Given the description of an element on the screen output the (x, y) to click on. 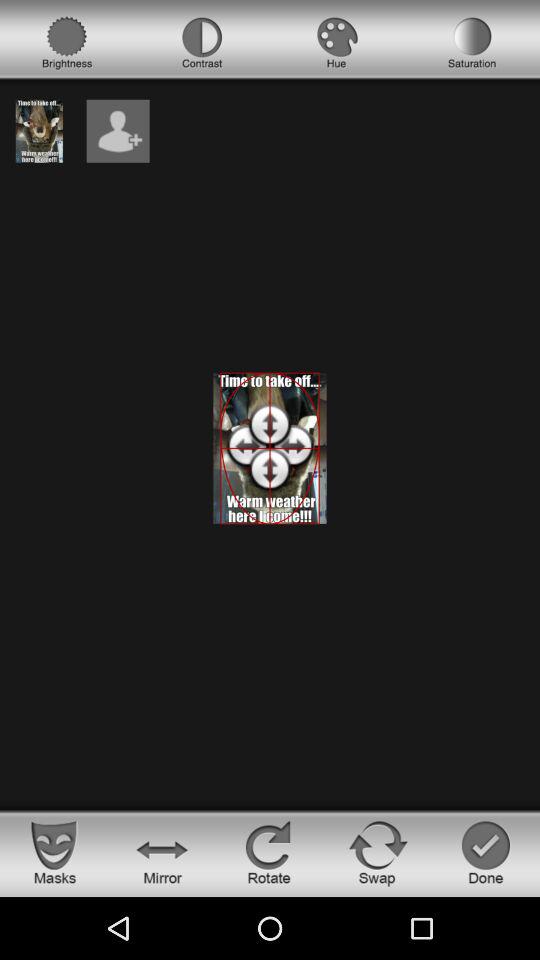
swap button (377, 852)
